Given the description of an element on the screen output the (x, y) to click on. 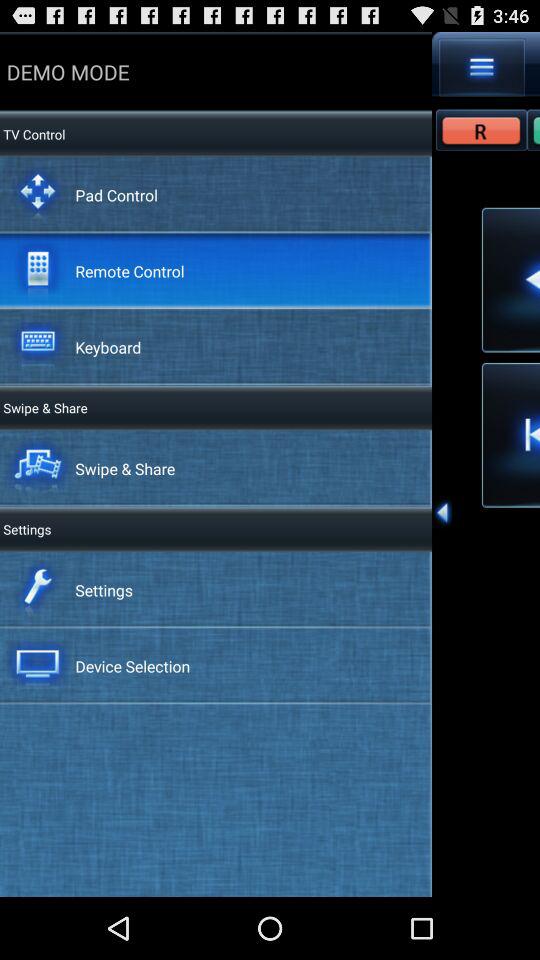
open item above  swipe & share app (108, 346)
